Given the description of an element on the screen output the (x, y) to click on. 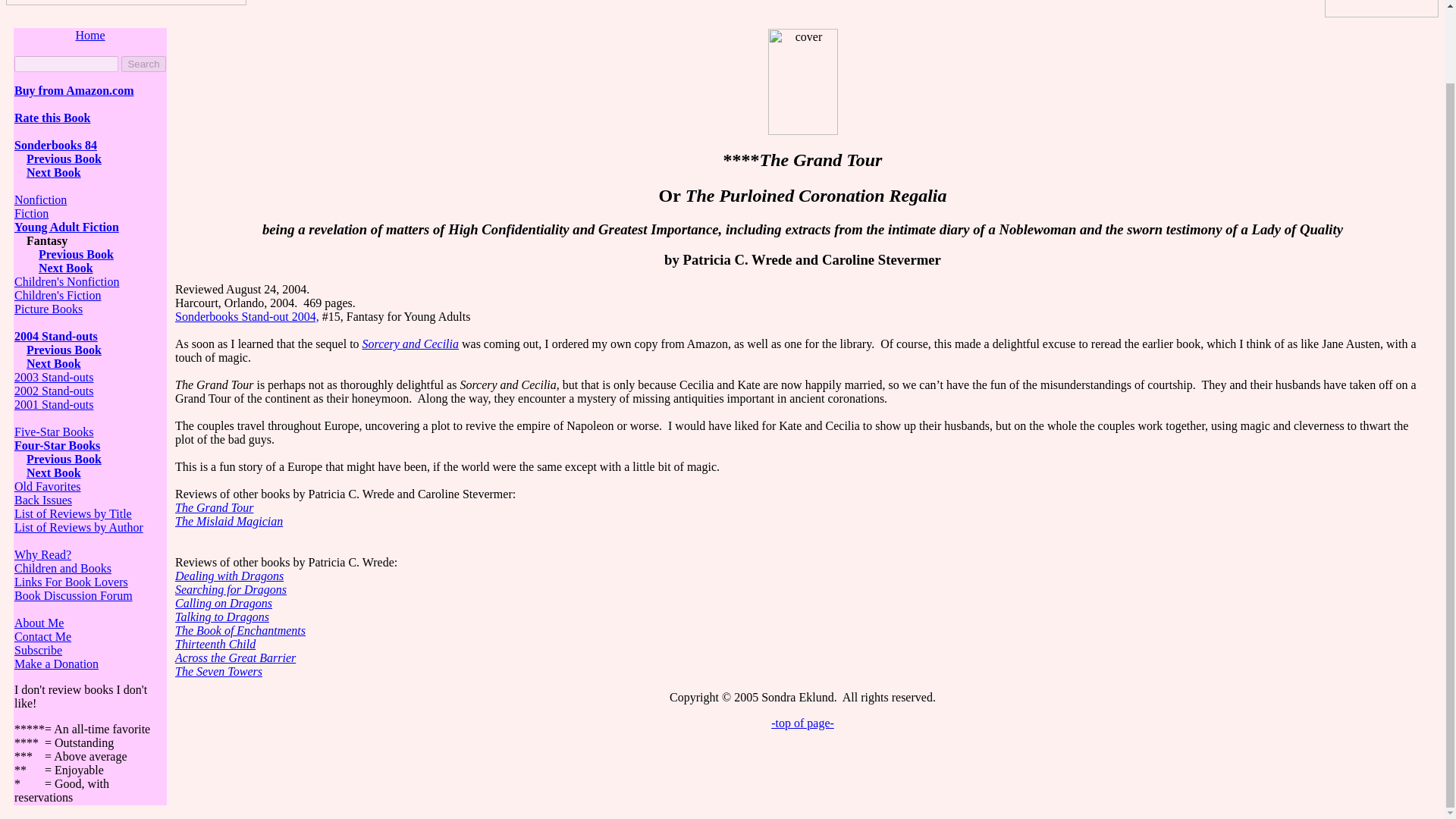
2001 Stand-outs (53, 404)
List of Reviews by Title (73, 513)
Search (142, 64)
Back Issues (42, 499)
Five-Star Books (53, 431)
2003 Stand-outs (53, 377)
Fiction (31, 213)
Next Book (53, 172)
Picture Books (48, 308)
Young Adult Fiction (66, 226)
